Given the description of an element on the screen output the (x, y) to click on. 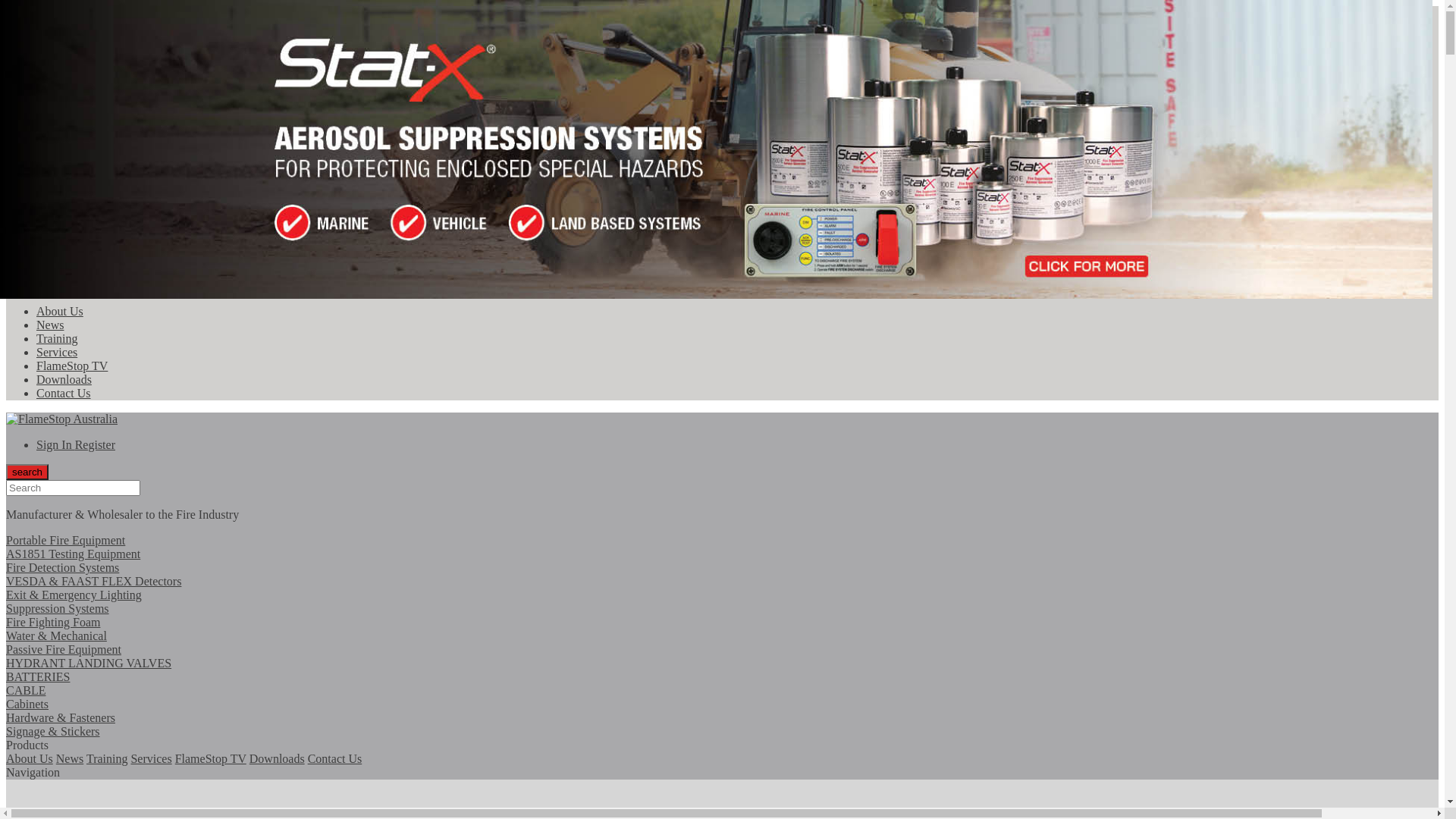
About Us Element type: text (29, 758)
Contact Us Element type: text (63, 392)
Fire Fighting Foam Element type: text (722, 628)
Training Element type: text (107, 758)
SIGN IN Element type: text (58, 241)
Services Element type: text (56, 351)
search Element type: text (27, 472)
Portable Fire Equipment Element type: text (95, 51)
VESDA & FAAST FLEX ASD Element type: text (112, 92)
Cabinets Element type: text (722, 710)
Services Element type: text (150, 758)
Sign In Element type: text (55, 444)
Downloads Element type: text (276, 758)
Exit & Emergency Lighting Element type: text (104, 119)
Downloads Element type: text (63, 379)
Training Element type: text (57, 338)
Exit & Emergency Lighting Element type: text (722, 601)
search Element type: text (27, 268)
Fire Fighting Foam Element type: text (83, 147)
Portable Fire Equipment Element type: text (722, 539)
AS1851 Testing Equipment Element type: text (103, 65)
CABLE Element type: text (722, 697)
Signage & Stickers Element type: text (83, 215)
VESDA & FAAST FLEX Detectors Element type: text (722, 587)
AS1851 Testing Equipment Element type: text (722, 560)
FlameStop TV Element type: text (210, 758)
Water & Mechanical Element type: text (722, 642)
Fire Detection Systems Element type: text (92, 78)
Passive Fire Equipment Element type: text (722, 656)
FlameStop TV Element type: text (71, 365)
Hardware & Fasteners Element type: text (90, 201)
HYDRANT LANDING VALVES Element type: text (722, 669)
Cabinets Element type: text (57, 188)
BATTERIES Element type: text (722, 683)
News Element type: text (69, 758)
Signage & Stickers Element type: text (722, 737)
Contact Us Element type: text (334, 758)
FlameStop Australia Element type: hover (61, 418)
Fire Detection Systems Element type: text (722, 574)
Hardware & Fasteners Element type: text (722, 724)
About Us Element type: text (59, 310)
Water & Mechanical Element type: text (86, 106)
Navigation Element type: text (32, 771)
Suppression Systems Element type: text (87, 133)
Passive Fire Equipment Element type: text (93, 160)
News Element type: text (49, 324)
Suppression Systems Element type: text (722, 615)
HYDRANT LANDING VALVES Element type: text (118, 174)
Register Element type: text (95, 444)
